Given the description of an element on the screen output the (x, y) to click on. 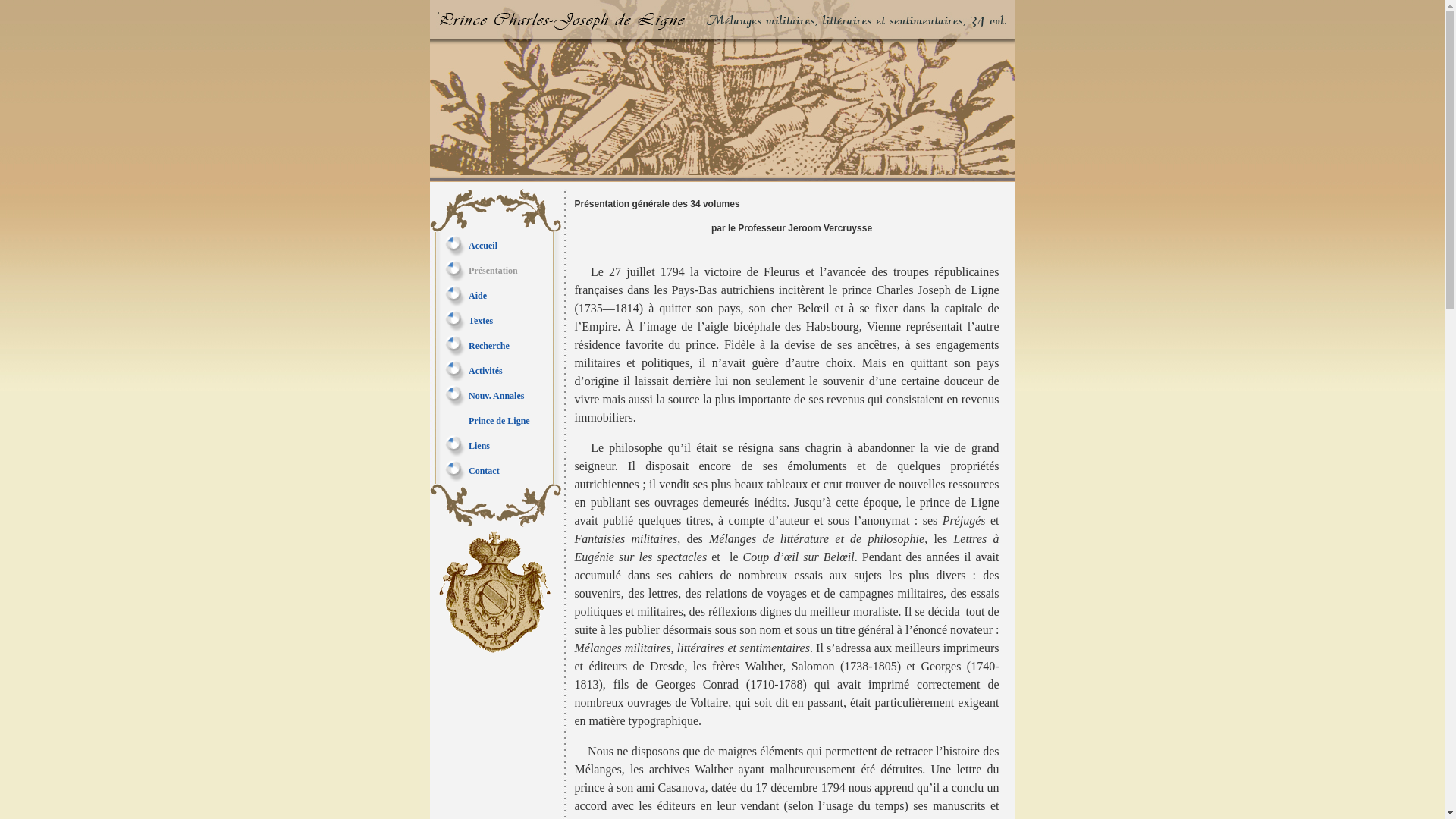
Contact Element type: text (483, 470)
Accueil Element type: text (482, 244)
Textes Element type: text (480, 320)
Nouv. Annales Element type: text (496, 394)
Liens Element type: text (478, 444)
Aide Element type: text (477, 294)
Recherche Element type: text (488, 344)
Prince de Ligne Element type: text (499, 420)
